Given the description of an element on the screen output the (x, y) to click on. 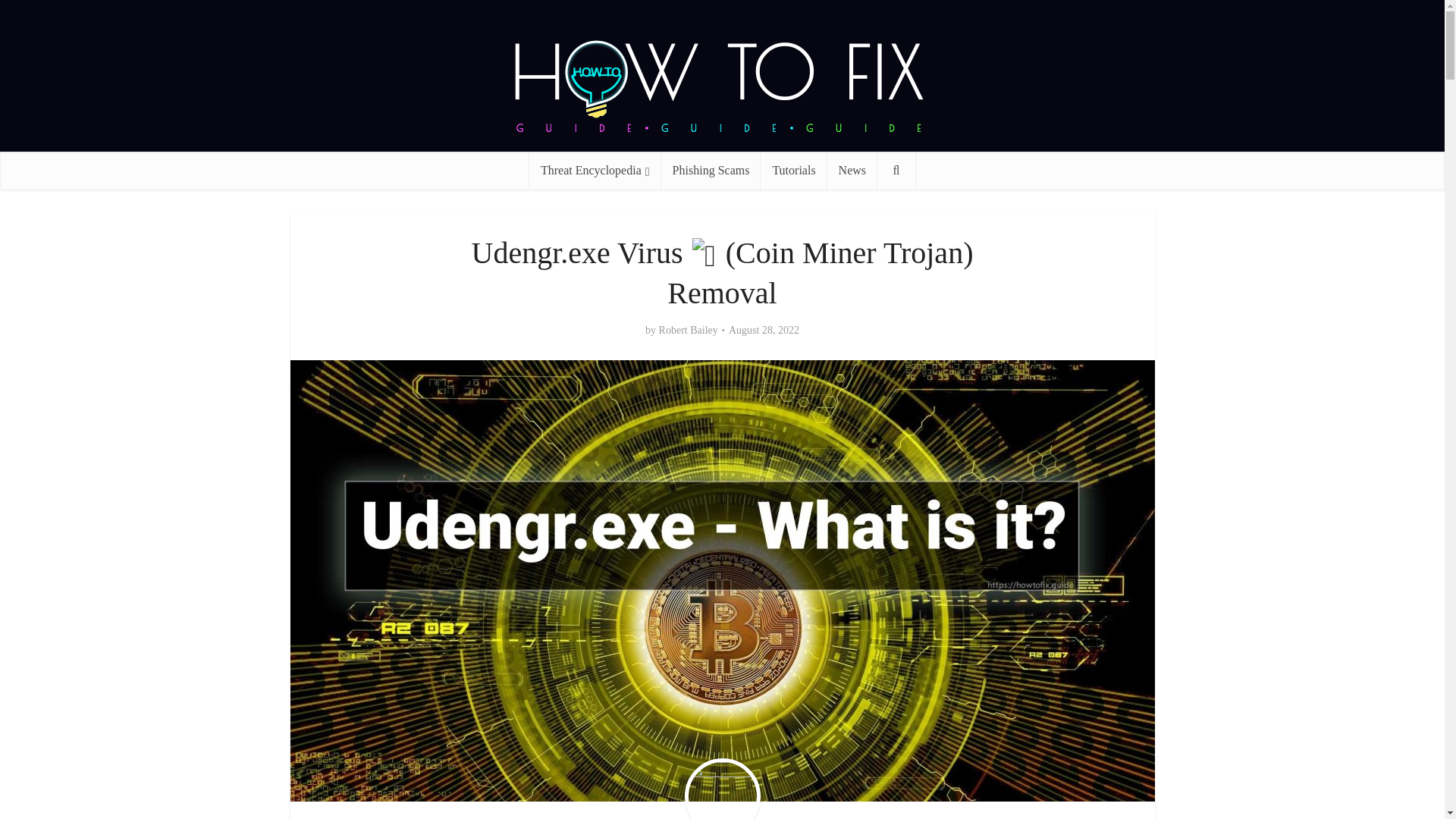
Robert Bailey (688, 330)
Threat Encyclopedia (595, 170)
Tutorials (793, 170)
News (852, 170)
Phishing Scams (711, 170)
